Given the description of an element on the screen output the (x, y) to click on. 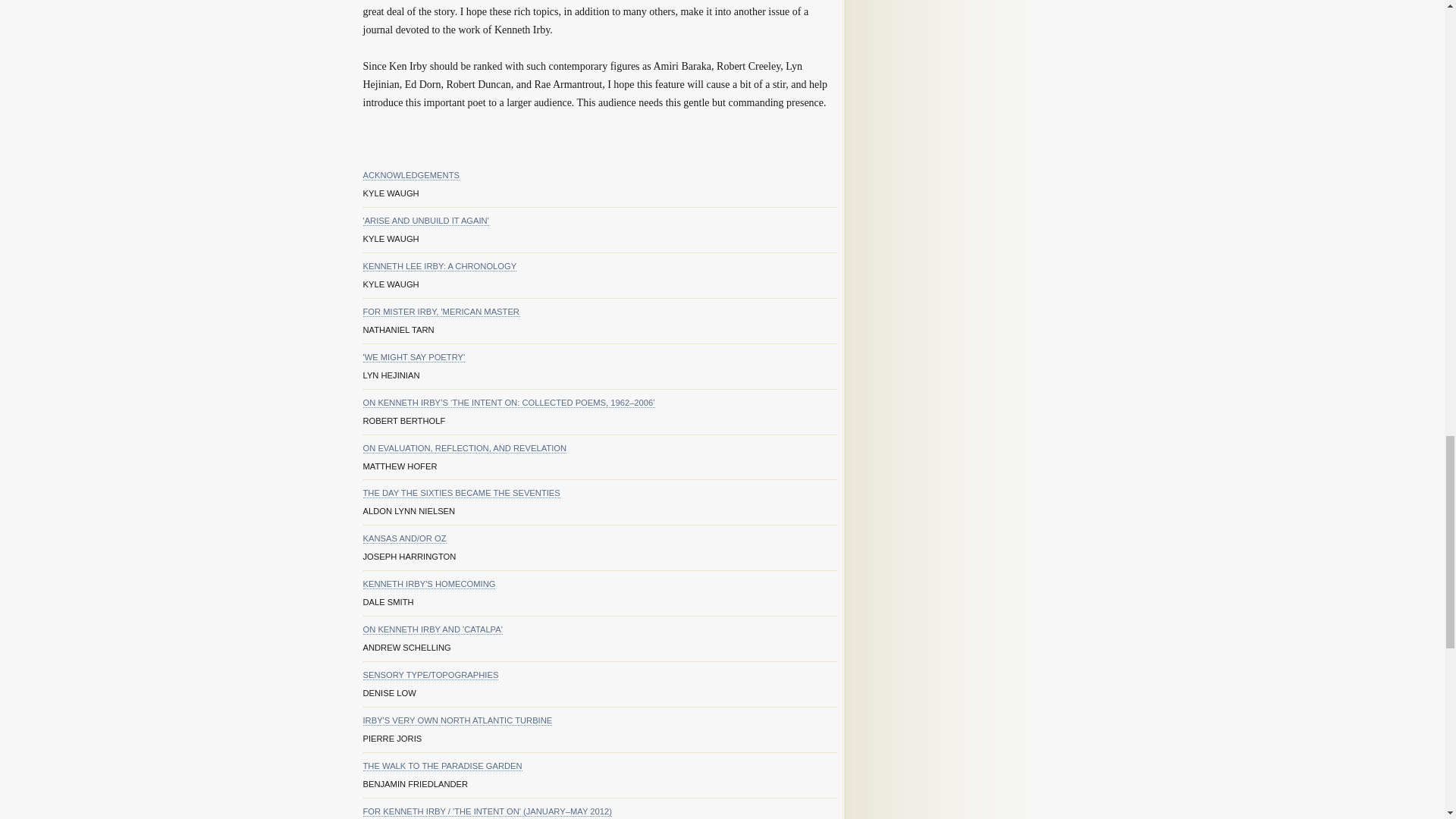
THE WALK TO THE PARADISE GARDEN (441, 766)
'ARISE AND UNBUILD IT AGAIN' (424, 221)
'WE MIGHT SAY POETRY' (413, 357)
THE DAY THE SIXTIES BECAME THE SEVENTIES (460, 492)
KENNETH IRBY'S HOMECOMING (428, 583)
KENNETH LEE IRBY: A CHRONOLOGY (439, 266)
ON KENNETH IRBY AND 'CATALPA' (432, 629)
IRBY'S VERY OWN NORTH ATLANTIC TURBINE (456, 720)
FOR MISTER IRBY, 'MERICAN MASTER (440, 311)
ON EVALUATION, REFLECTION, AND REVELATION (464, 448)
